Given the description of an element on the screen output the (x, y) to click on. 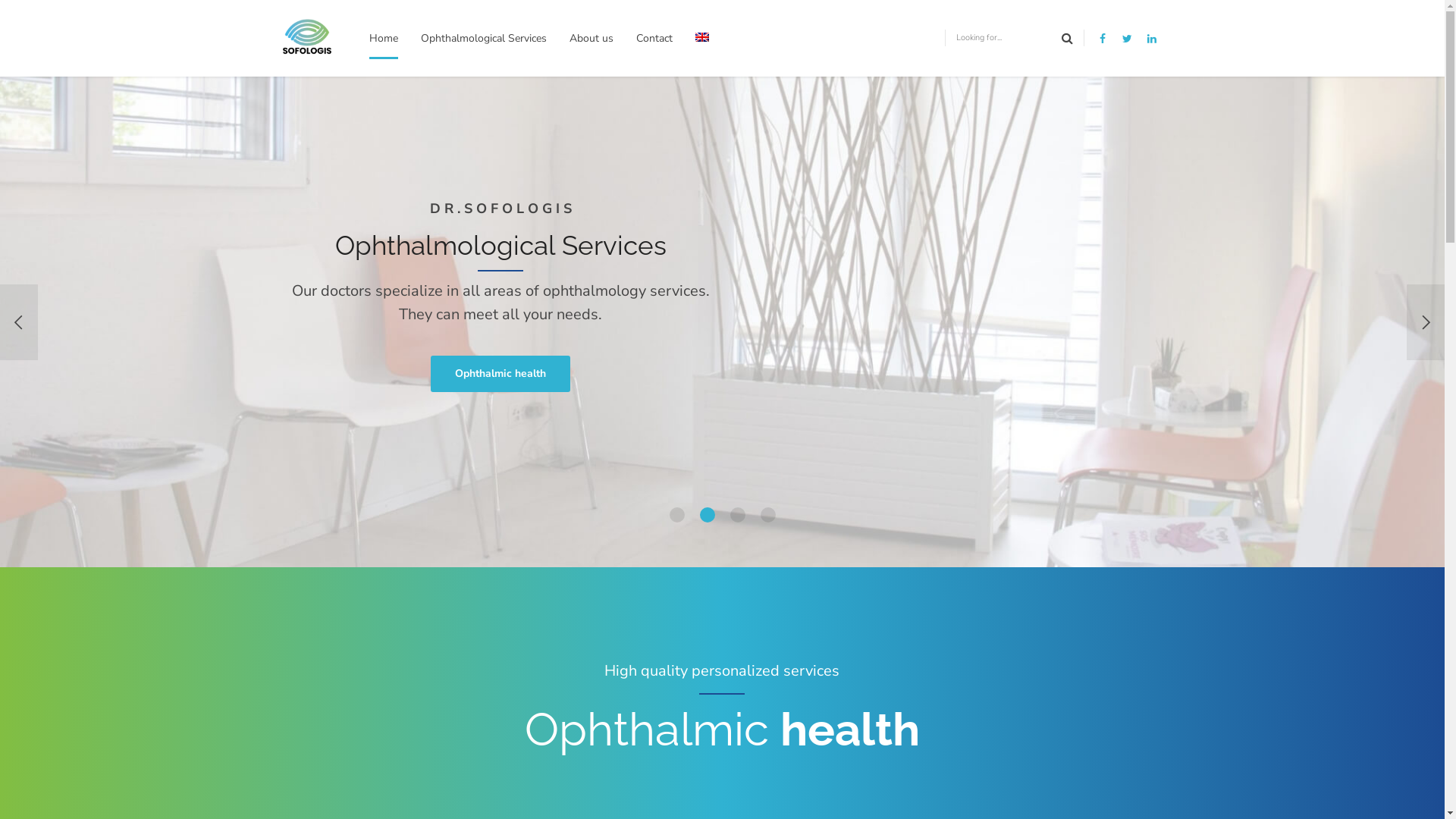
4 Element type: text (767, 514)
Ophthalmological Services Element type: text (483, 38)
About us Element type: text (591, 38)
Ophthalmic health Element type: text (500, 373)
3 Element type: text (736, 514)
1 Element type: text (676, 514)
2 Element type: text (706, 514)
Home Element type: text (383, 38)
Contact Element type: text (654, 38)
